Given the description of an element on the screen output the (x, y) to click on. 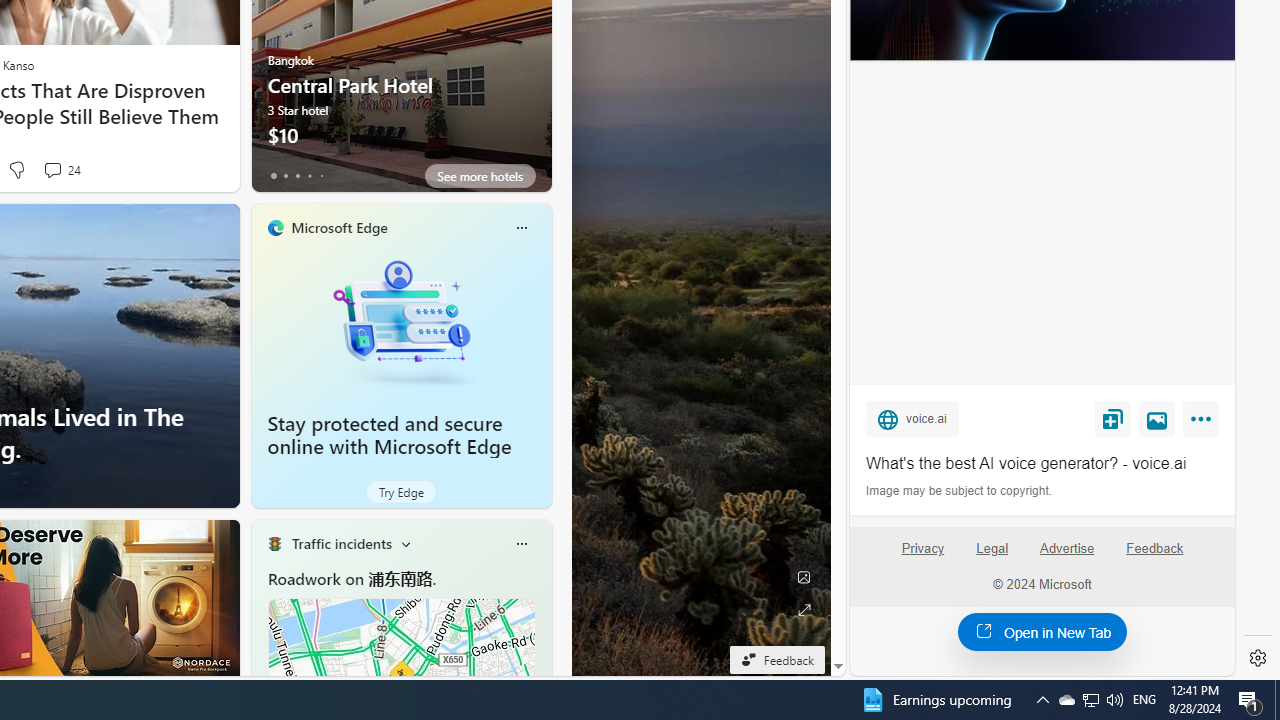
Change scenarios (405, 543)
Class: icon-img (521, 543)
Open in New Tab (1042, 631)
Stay protected and secure online with Microsoft Edge (401, 321)
Privacy (922, 557)
Expand background (803, 610)
More (1204, 422)
Traffic incidents (340, 543)
Try Edge (401, 491)
Stay protected and secure online with Microsoft Edge (389, 435)
tab-1 (285, 175)
tab-0 (273, 175)
Advertise (1066, 547)
